Given the description of an element on the screen output the (x, y) to click on. 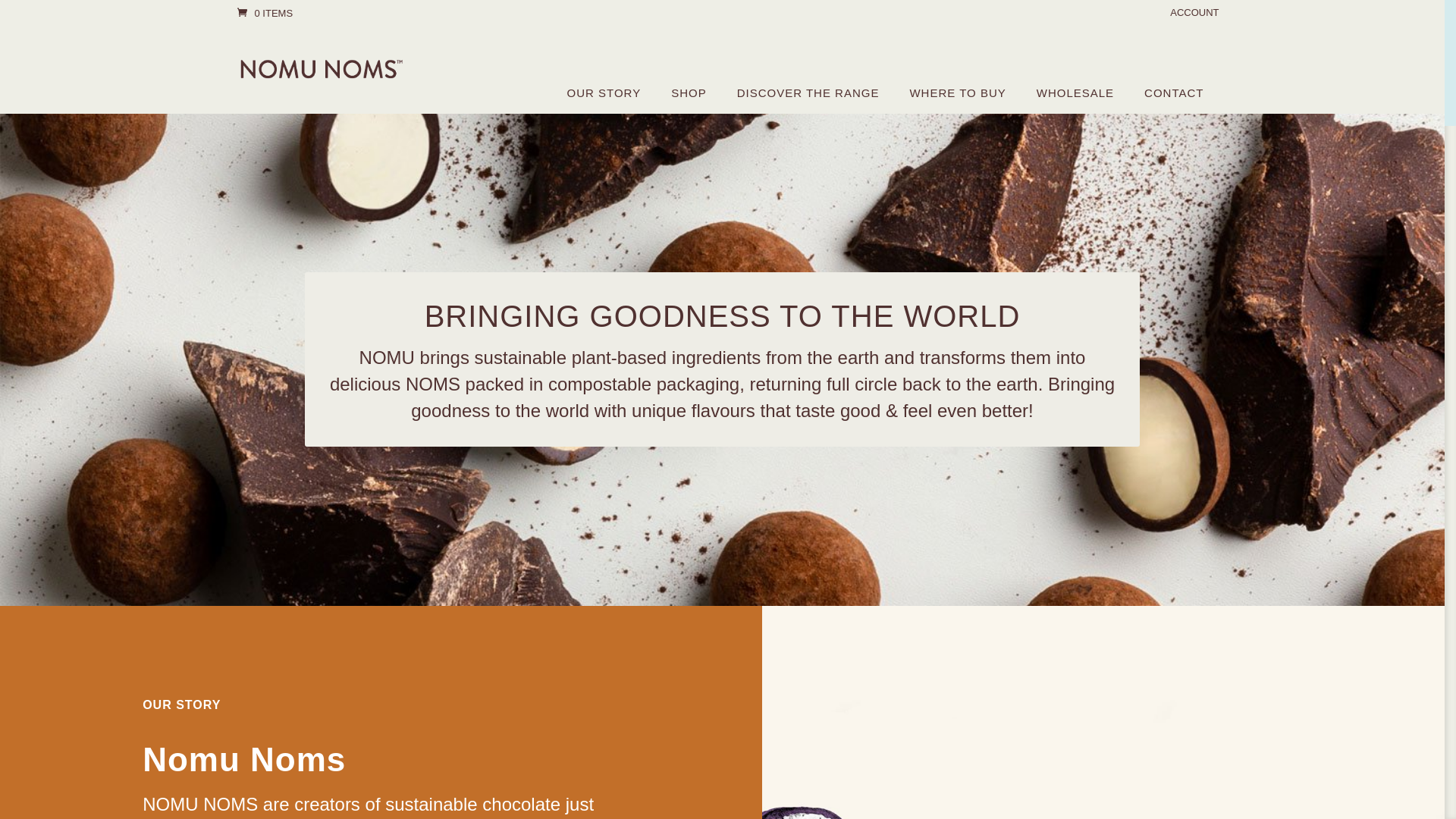
OUR STORY Element type: text (604, 92)
CONTACT Element type: text (1173, 92)
DISCOVER THE RANGE Element type: text (807, 92)
WHOLESALE Element type: text (1075, 92)
WHERE TO BUY Element type: text (957, 92)
SHOP Element type: text (688, 92)
ACCOUNT Element type: text (1194, 16)
0 ITEMS Element type: text (264, 12)
